Given the description of an element on the screen output the (x, y) to click on. 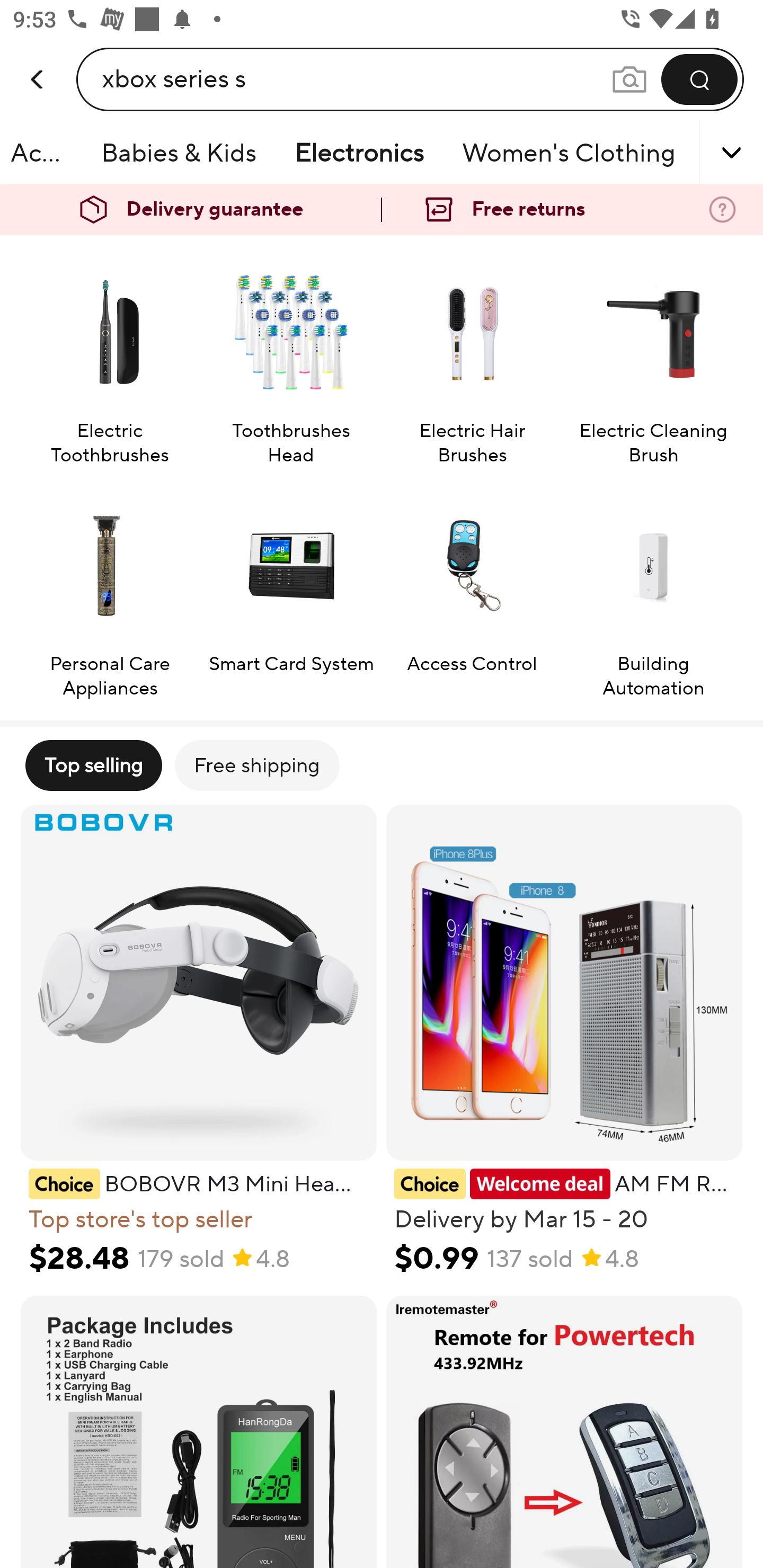
back  (38, 59)
xbox series s Search query (355, 79)
Jewelry, Watches & Accessories (44, 152)
Babies & Kids (178, 152)
Women's Clothing (569, 152)
 (705, 152)
Delivery guarantee Free returns (381, 210)
Electric Toothbrushes (109, 357)
Toothbrushes Head (290, 357)
Electric Hair Brushes (471, 357)
Electric Cleaning Brush (653, 357)
Personal Care Appliances (109, 590)
Smart Card System (290, 590)
Access Control (471, 590)
Building Automation (653, 590)
Top selling (93, 765)
Free shipping (256, 765)
